Given the description of an element on the screen output the (x, y) to click on. 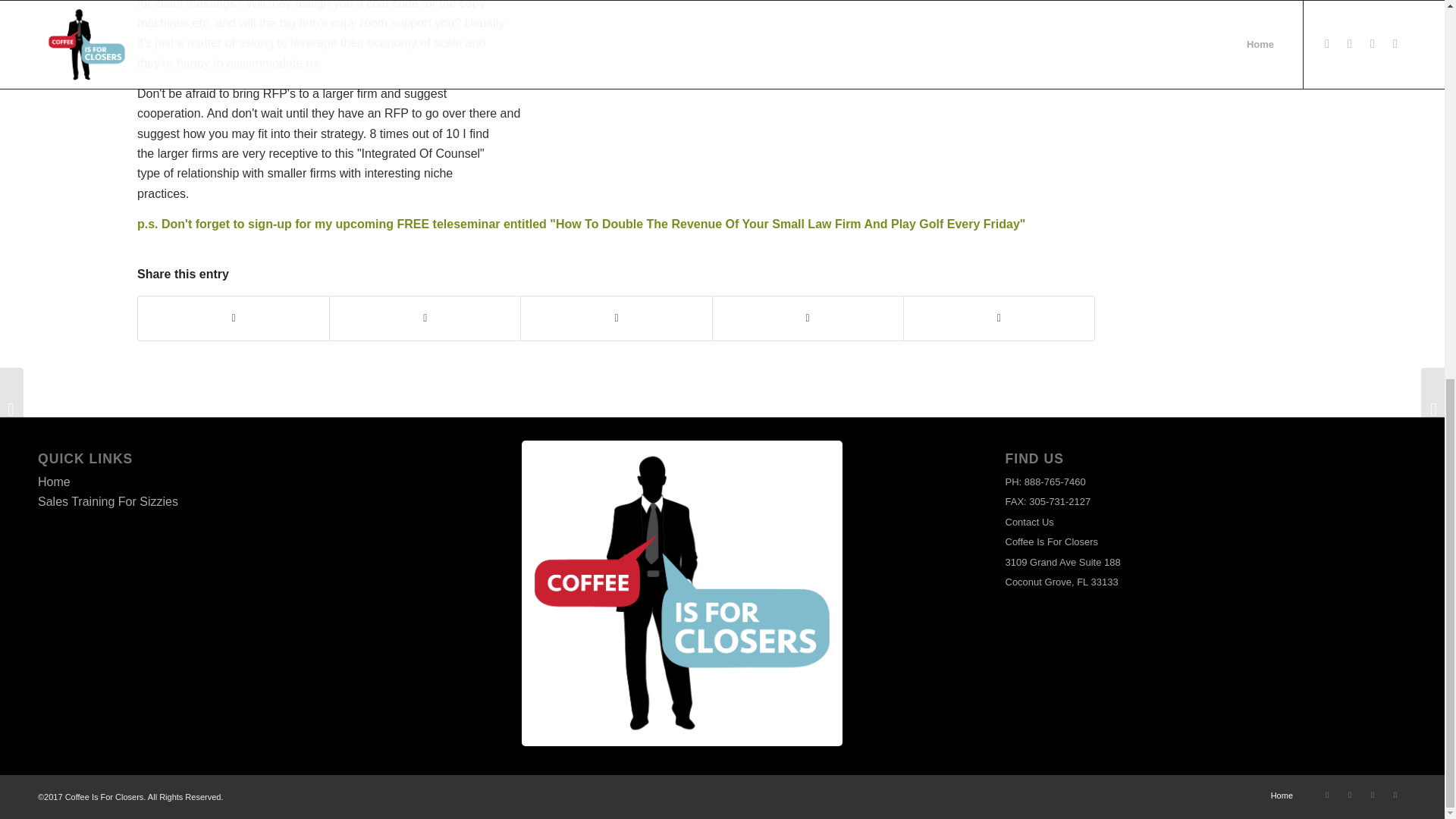
Home (1281, 795)
Gplus (1372, 793)
Home (53, 481)
Sales Training For Sizzies (107, 501)
Twitter (1349, 793)
Facebook (1327, 793)
Linkedin (1395, 793)
